Given the description of an element on the screen output the (x, y) to click on. 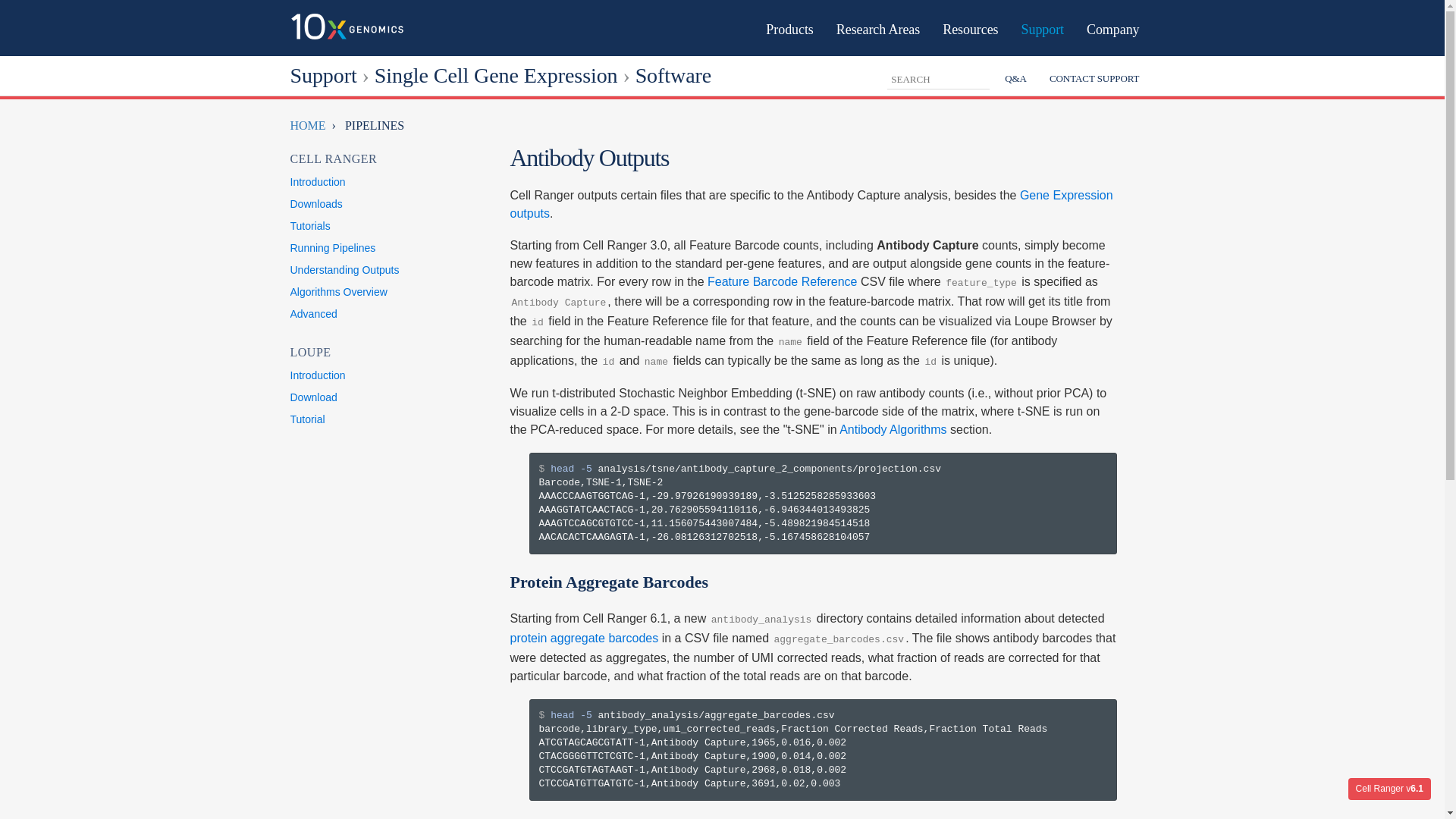
Tutorials (309, 225)
Research Areas (877, 26)
Support (322, 74)
Single Cell Gene Expression (495, 74)
Products (789, 26)
Support (1042, 26)
Resources (970, 26)
Downloads (315, 203)
Introduction (317, 182)
Software (672, 74)
CONTACT SUPPORT (1094, 77)
Company (1112, 26)
HOME (306, 124)
